Given the description of an element on the screen output the (x, y) to click on. 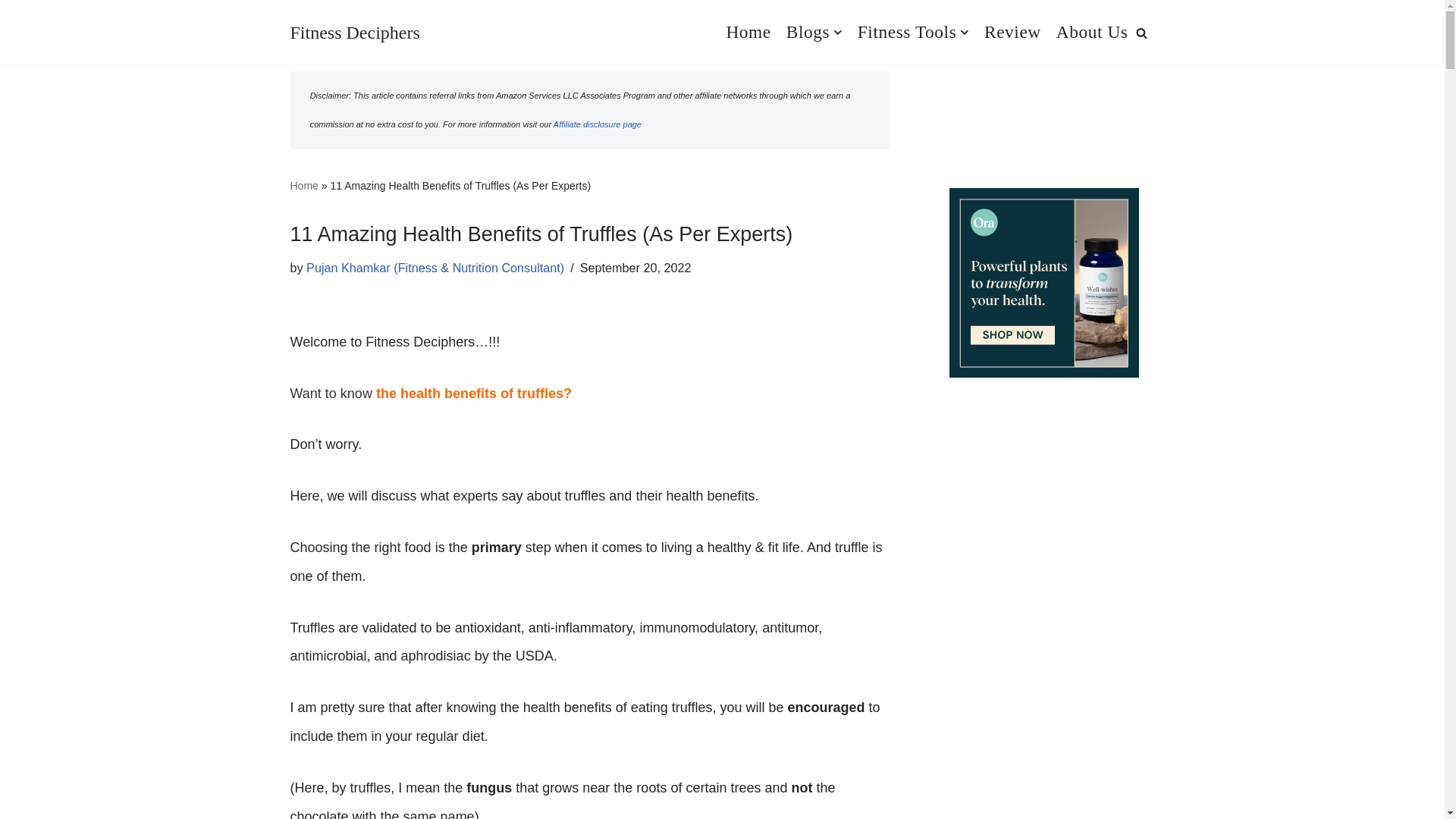
Affiliate disclosure page (597, 123)
Fitness Deciphers (354, 32)
Home (747, 31)
Review (1012, 31)
Fitness Tools (913, 31)
Skip to content (11, 31)
Home (303, 185)
Fitness Deciphers (354, 32)
About Us (1092, 31)
Blogs (814, 31)
